Given the description of an element on the screen output the (x, y) to click on. 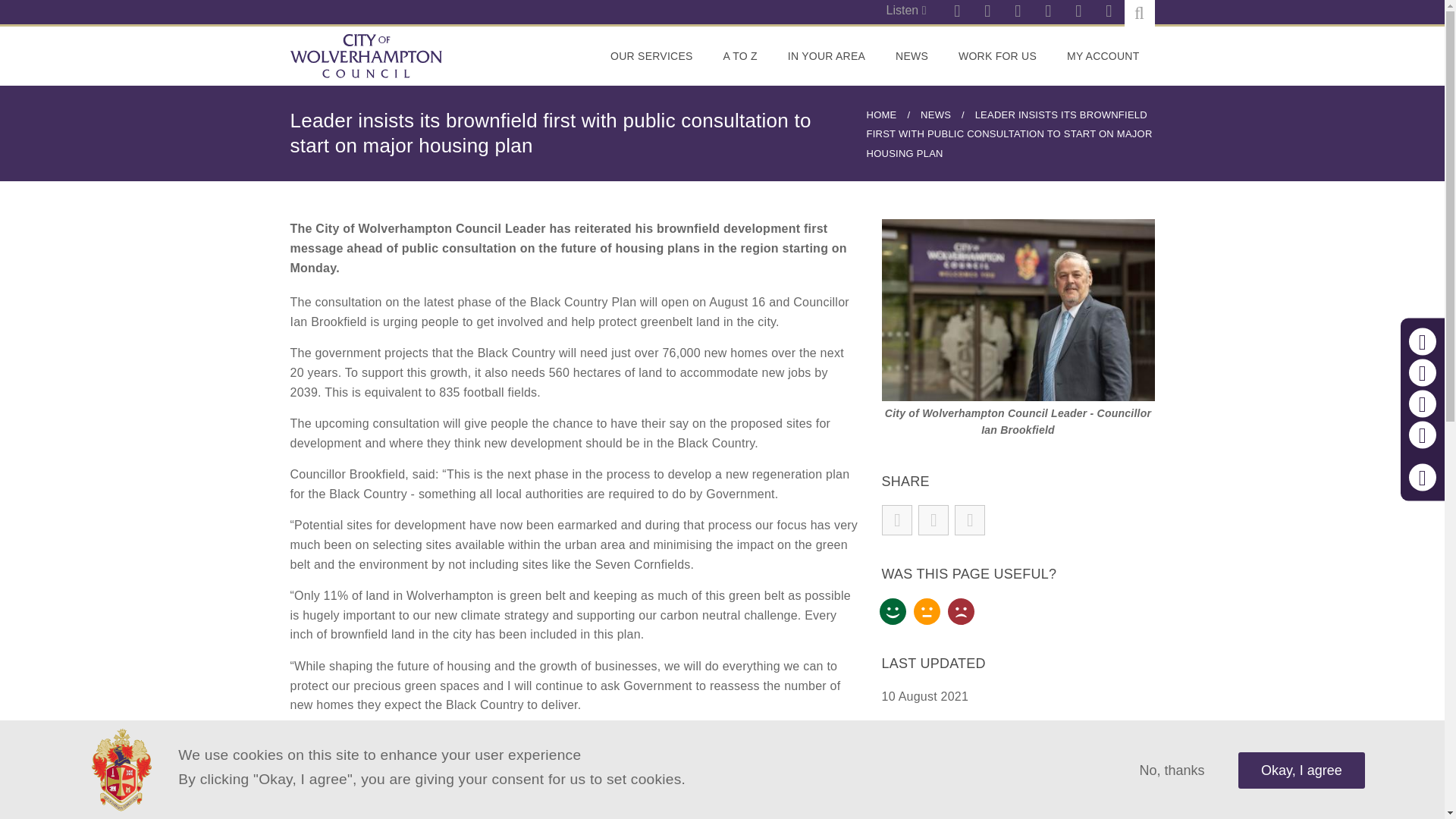
HOME (881, 114)
Decrease font size (1422, 372)
Share to Facebook (897, 520)
A to Z (740, 56)
LinkedIn (1108, 12)
MY ACCOUNT (1102, 56)
Facebook (1077, 12)
Yes (892, 610)
Zoom in (1422, 340)
Contrast (1422, 434)
